Given the description of an element on the screen output the (x, y) to click on. 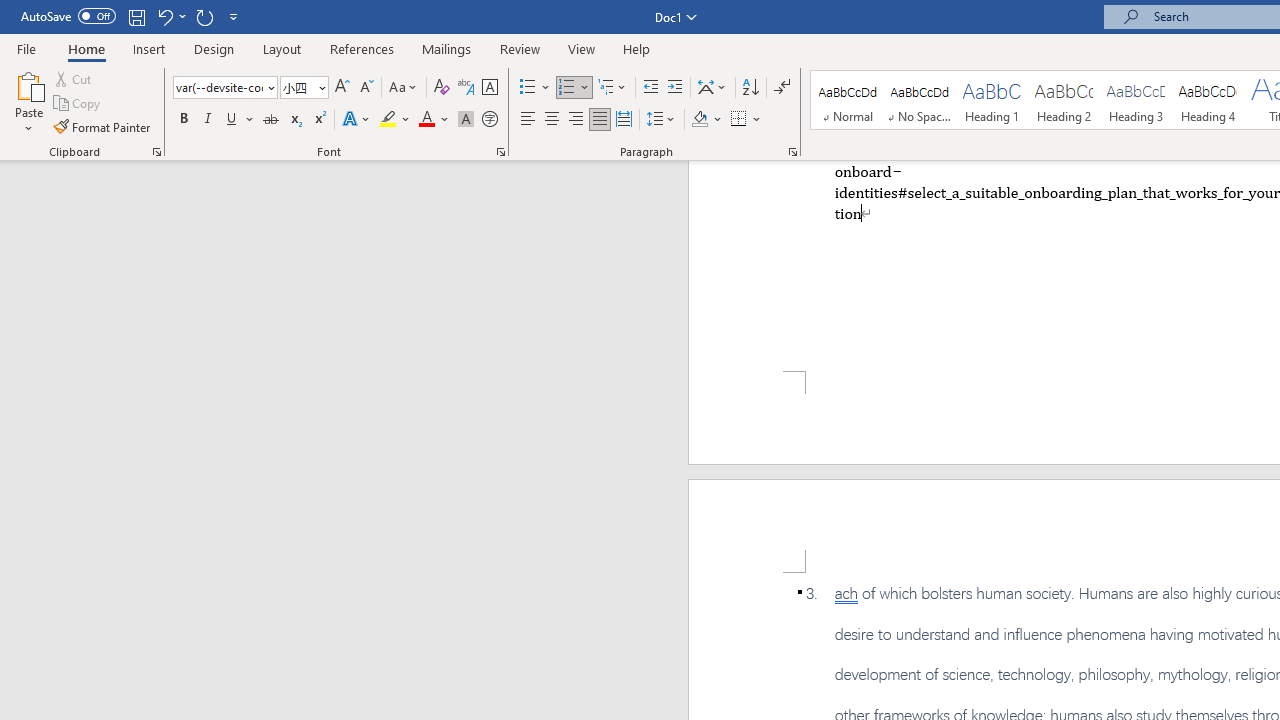
Undo Apply Quick Style (164, 15)
